Given the description of an element on the screen output the (x, y) to click on. 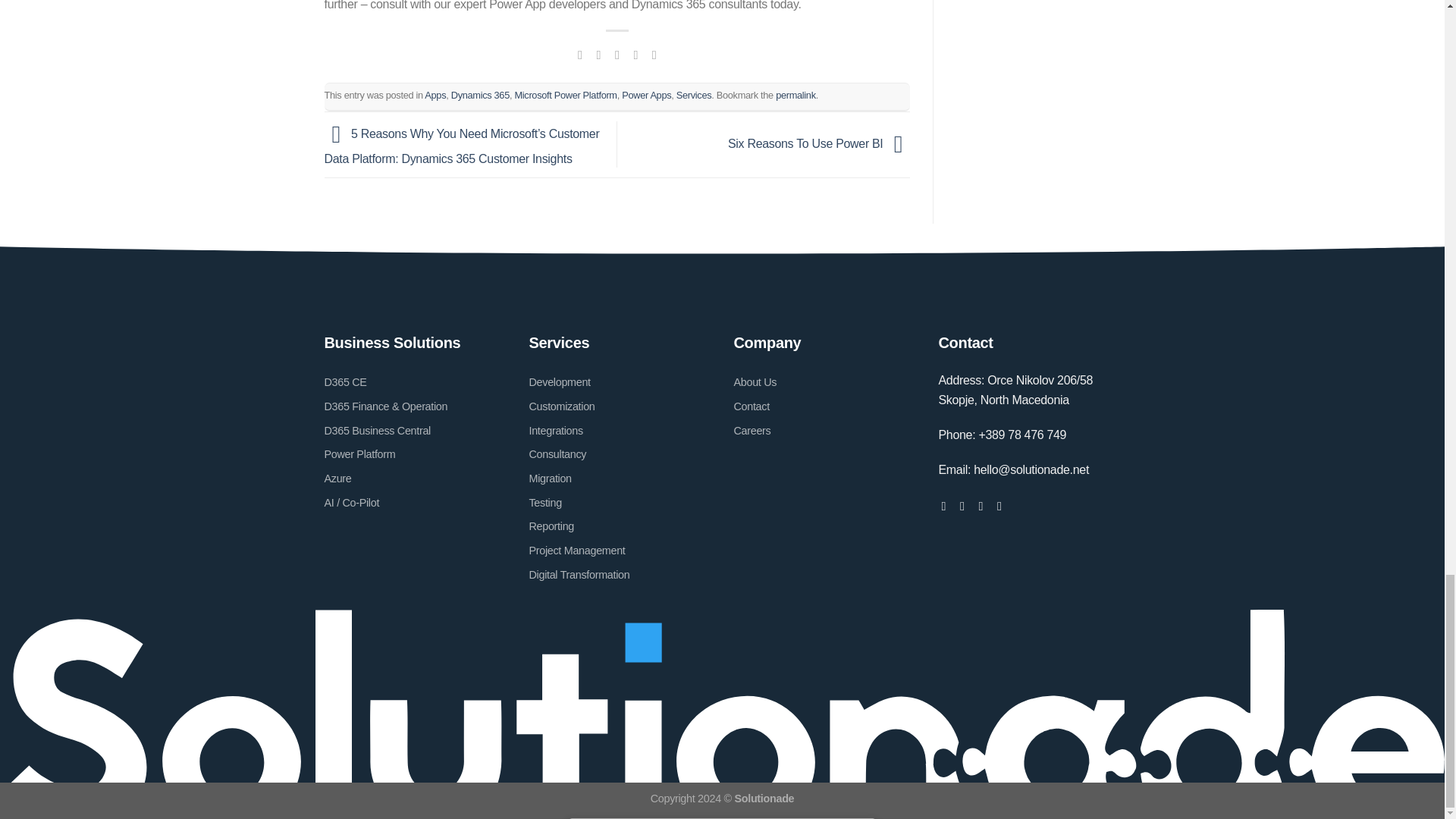
Share on LinkedIn (654, 54)
Follow on Facebook (947, 505)
